Given the description of an element on the screen output the (x, y) to click on. 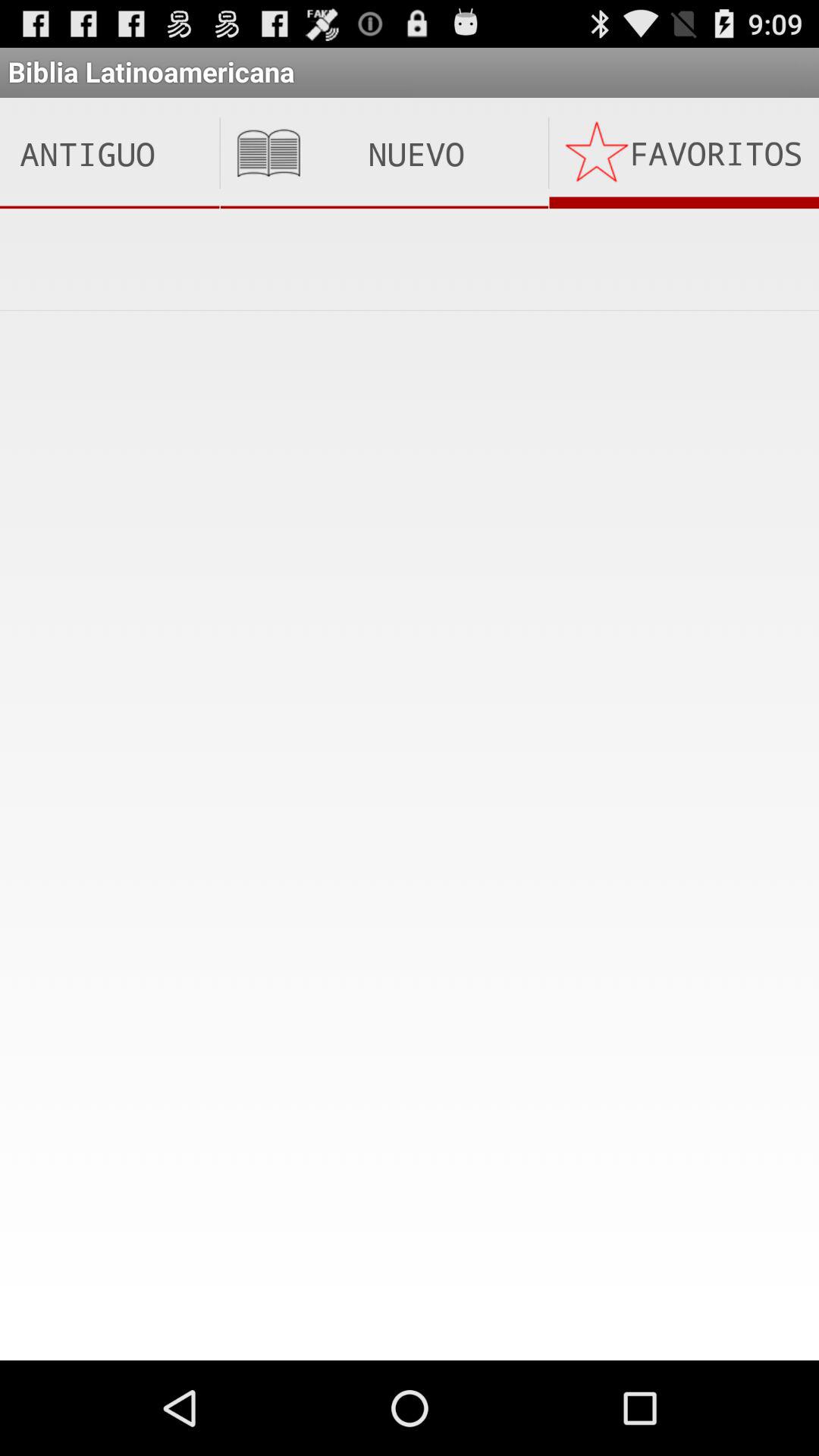
tap the icon next to nuevo testamento (109, 152)
